Given the description of an element on the screen output the (x, y) to click on. 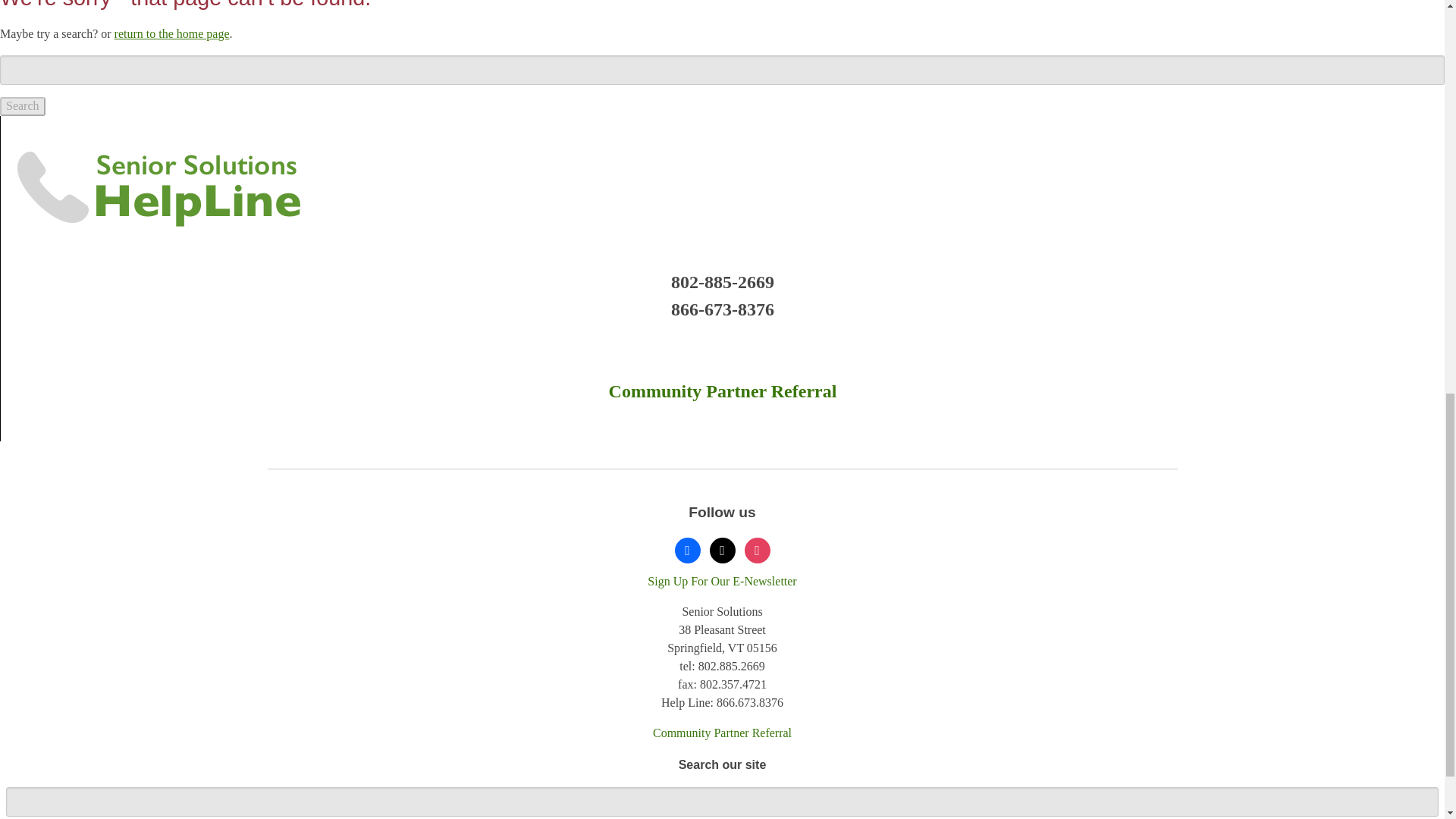
Facebook (687, 549)
Search (22, 106)
